Given the description of an element on the screen output the (x, y) to click on. 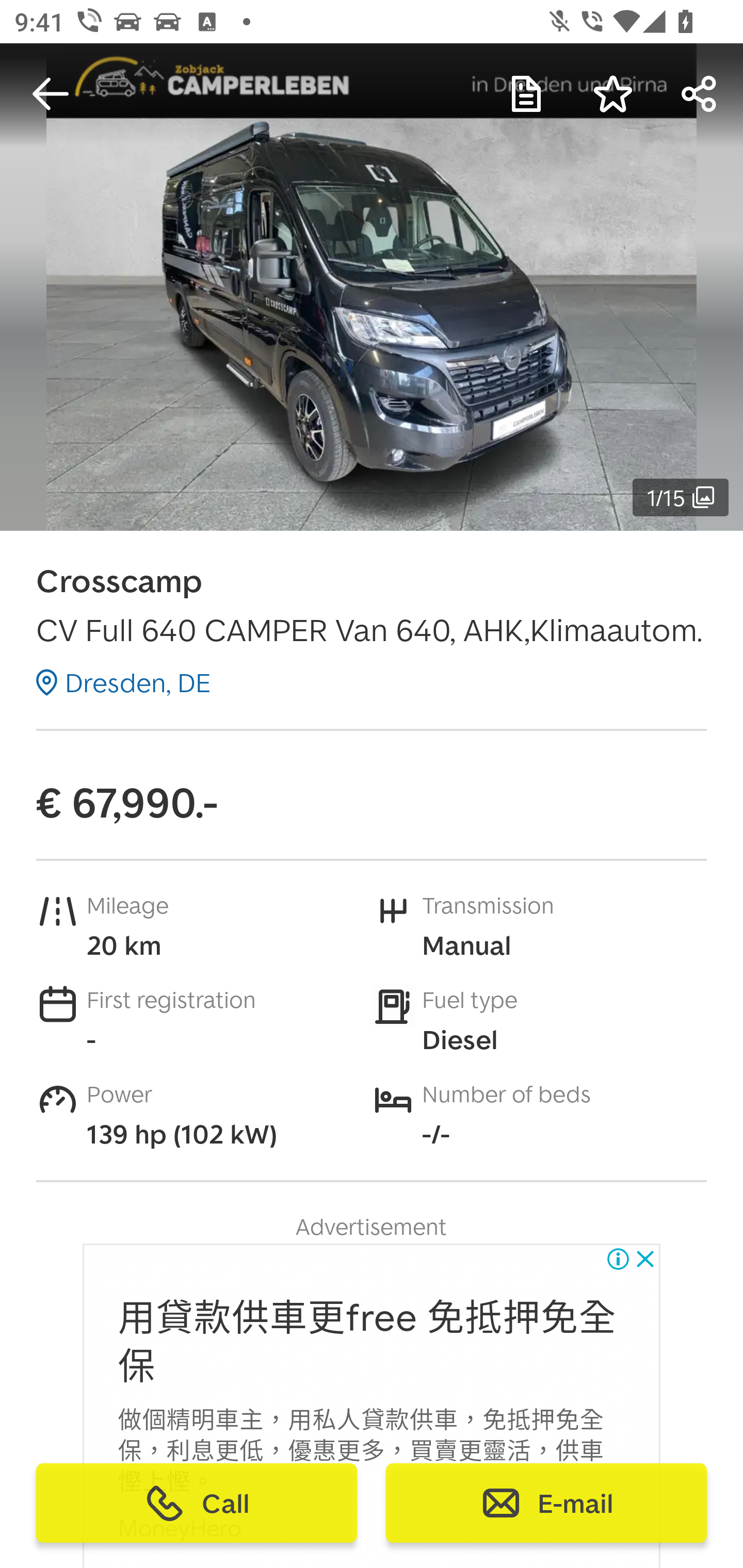
Navigate up (50, 93)
My Notes (525, 93)
Save (612, 93)
Forward (699, 93)
Dresden, DE (123, 681)
用貸款供車更free 免抵押免全 保 用貸款供車更free 免抵押免全 保 (366, 1342)
Call (196, 1502)
E-mail (545, 1502)
